Given the description of an element on the screen output the (x, y) to click on. 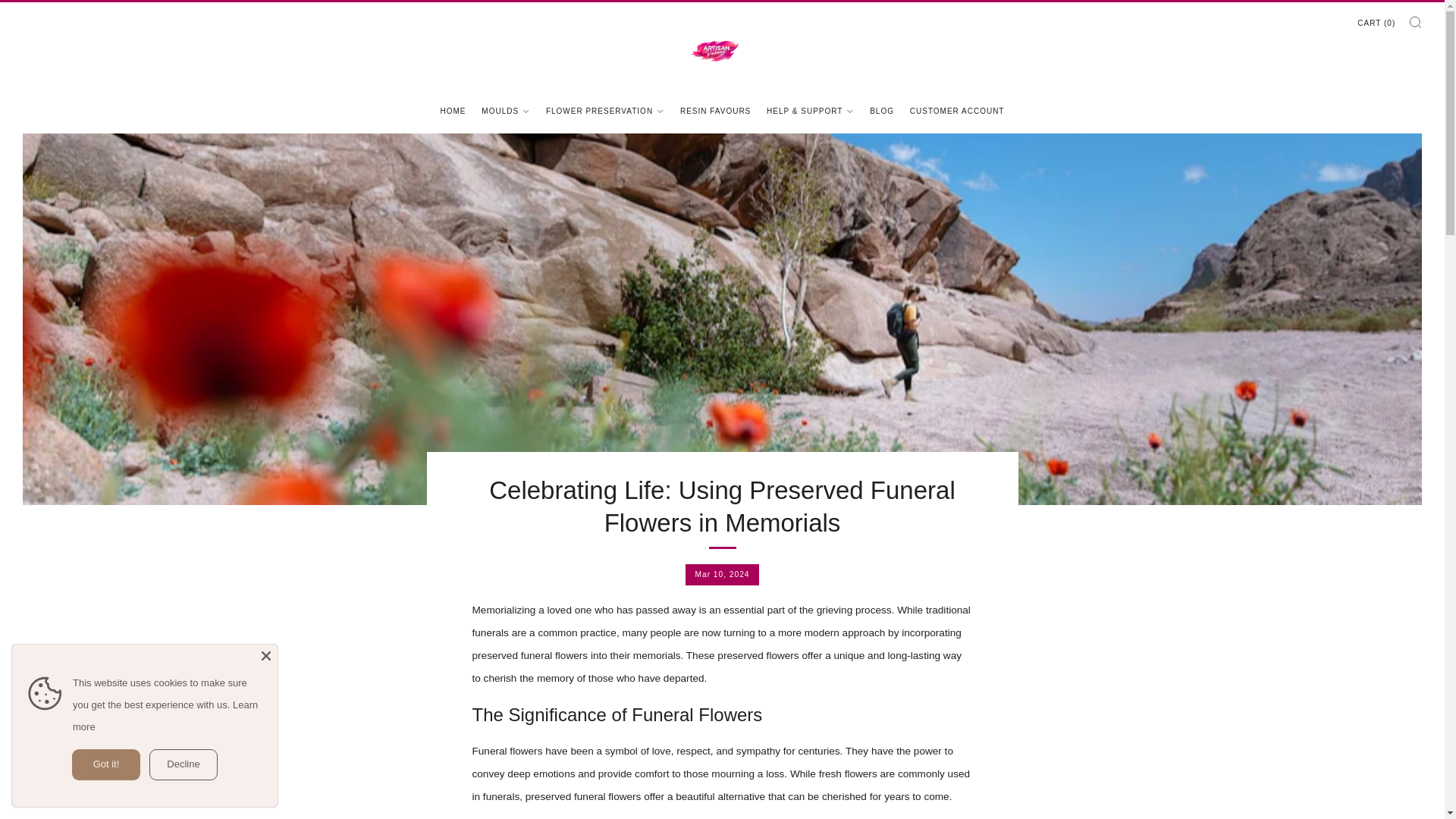
CUSTOMER ACCOUNT (957, 111)
FLOWER PRESERVATION (604, 111)
HOME (453, 111)
RESIN FAVOURS (715, 111)
BLOG (881, 111)
MOULDS (505, 111)
Learn more (164, 715)
